Given the description of an element on the screen output the (x, y) to click on. 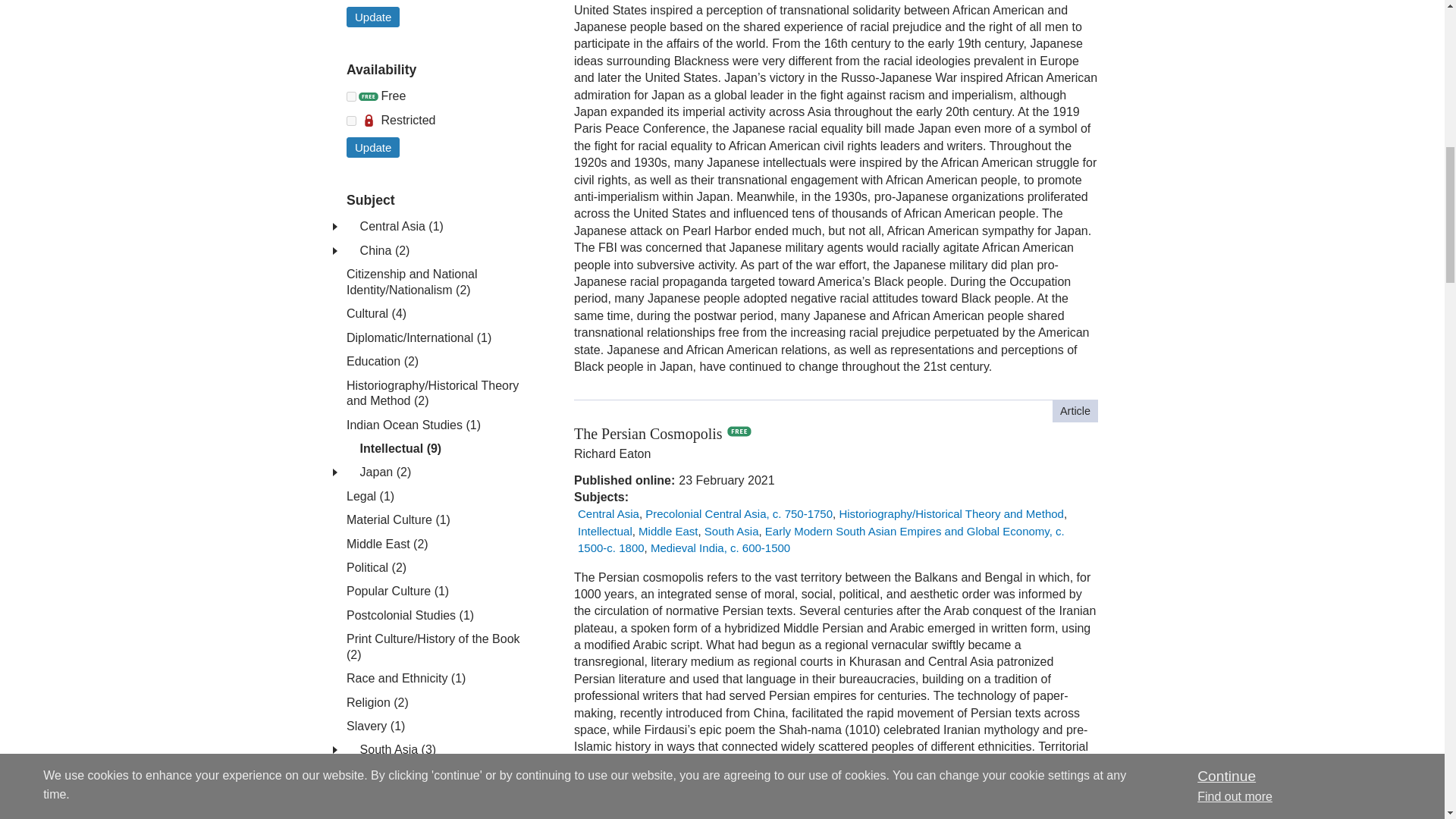
free (351, 96)
locked (351, 121)
